Given the description of an element on the screen output the (x, y) to click on. 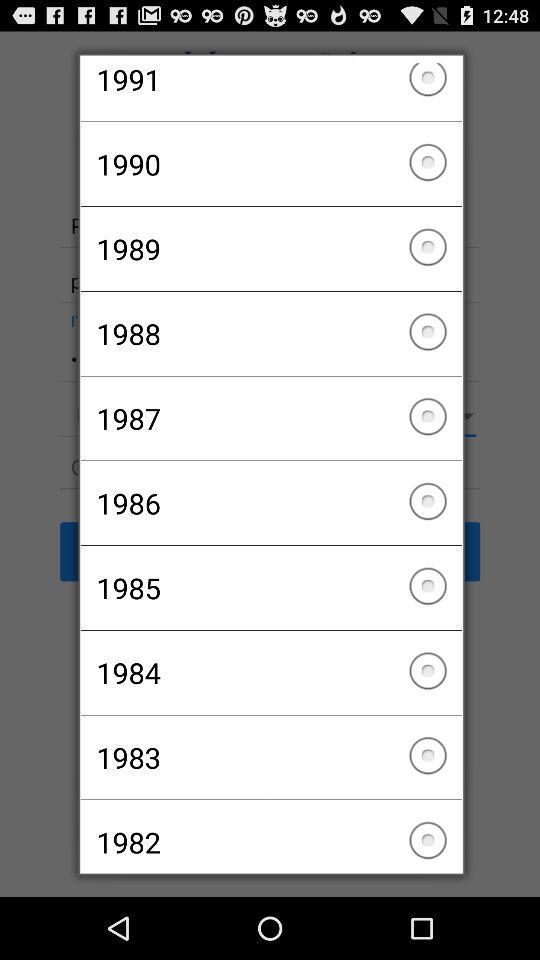
click the 1985 (270, 588)
